Given the description of an element on the screen output the (x, y) to click on. 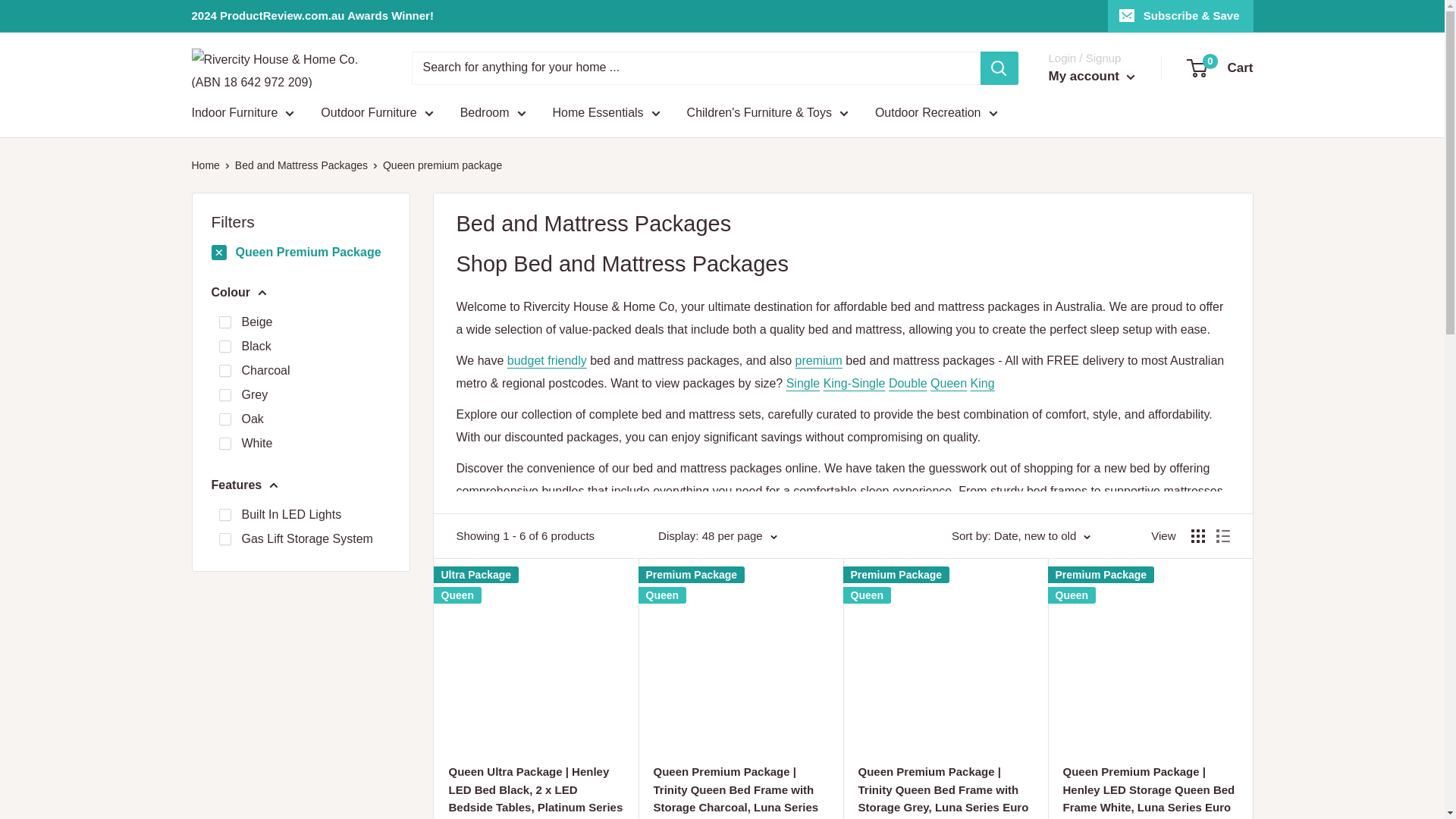
on (224, 346)
on (224, 395)
Budget bed and mattress package (546, 359)
on (224, 539)
Queen bed and mattress package bundle (948, 382)
Single bed and mattress package bundle (802, 382)
on (224, 322)
on (224, 514)
on (224, 370)
Premium bed and mattress package (818, 359)
King bed and mattress package bundle (982, 382)
Double bed and mattress package bundle (907, 382)
on (224, 419)
King Single Bed and Mattress Package Bundle (854, 382)
on (224, 443)
